Given the description of an element on the screen output the (x, y) to click on. 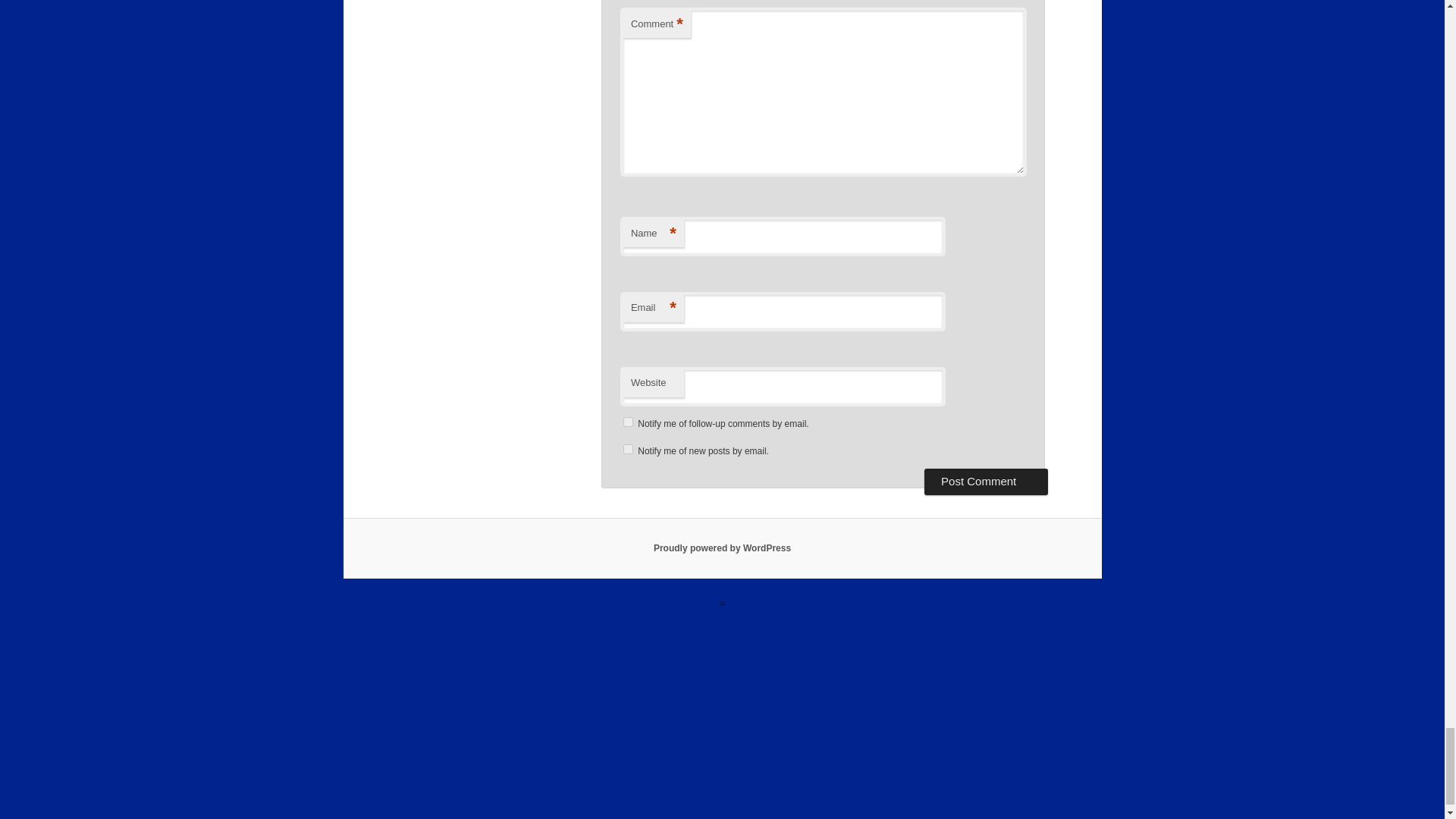
Post Comment (986, 481)
subscribe (628, 421)
subscribe (628, 449)
